Given the description of an element on the screen output the (x, y) to click on. 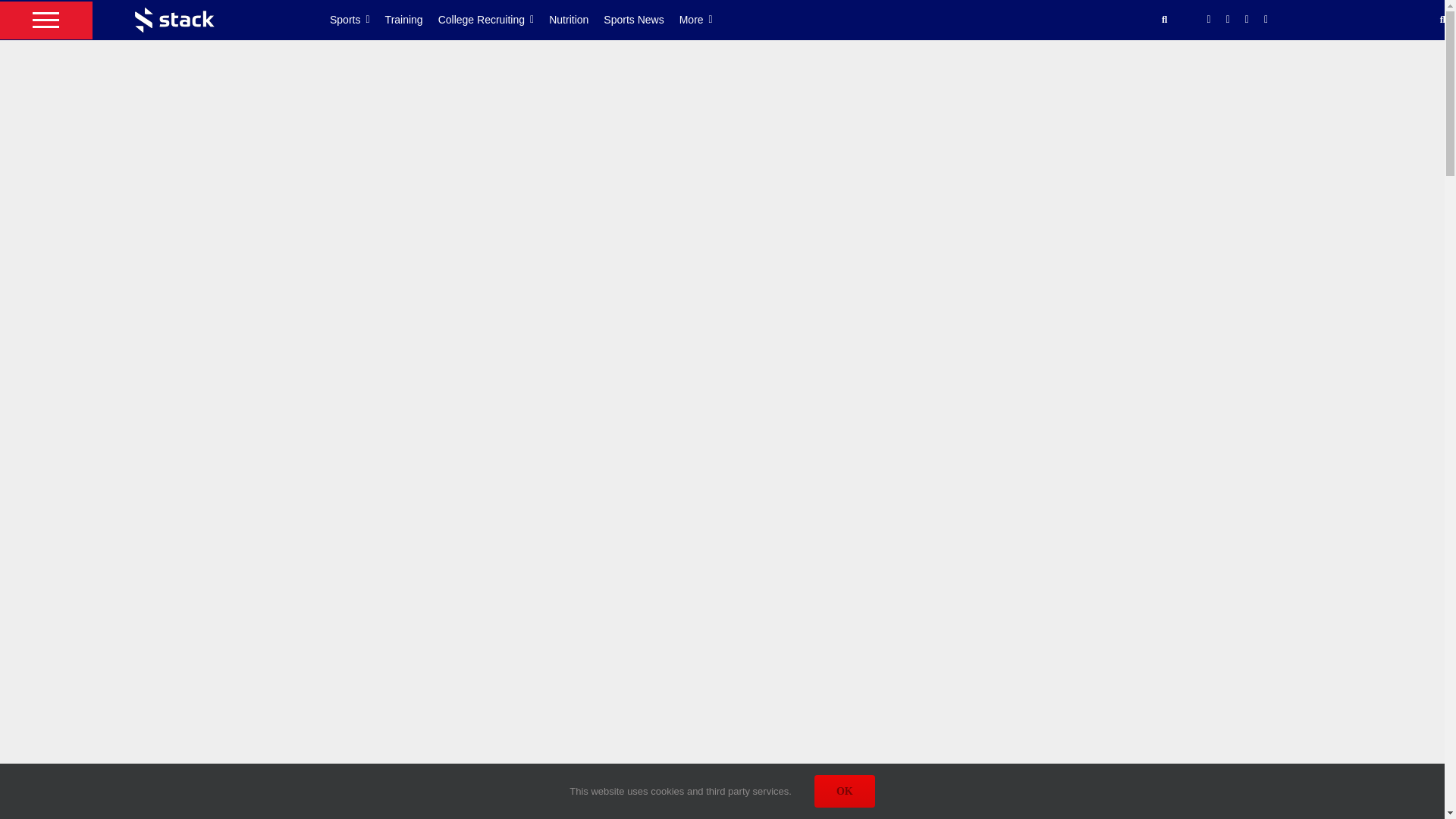
College Recruiting (494, 19)
Nutrition (576, 19)
Sports (357, 19)
More (703, 19)
Training (411, 19)
Sports News (641, 19)
